Given the description of an element on the screen output the (x, y) to click on. 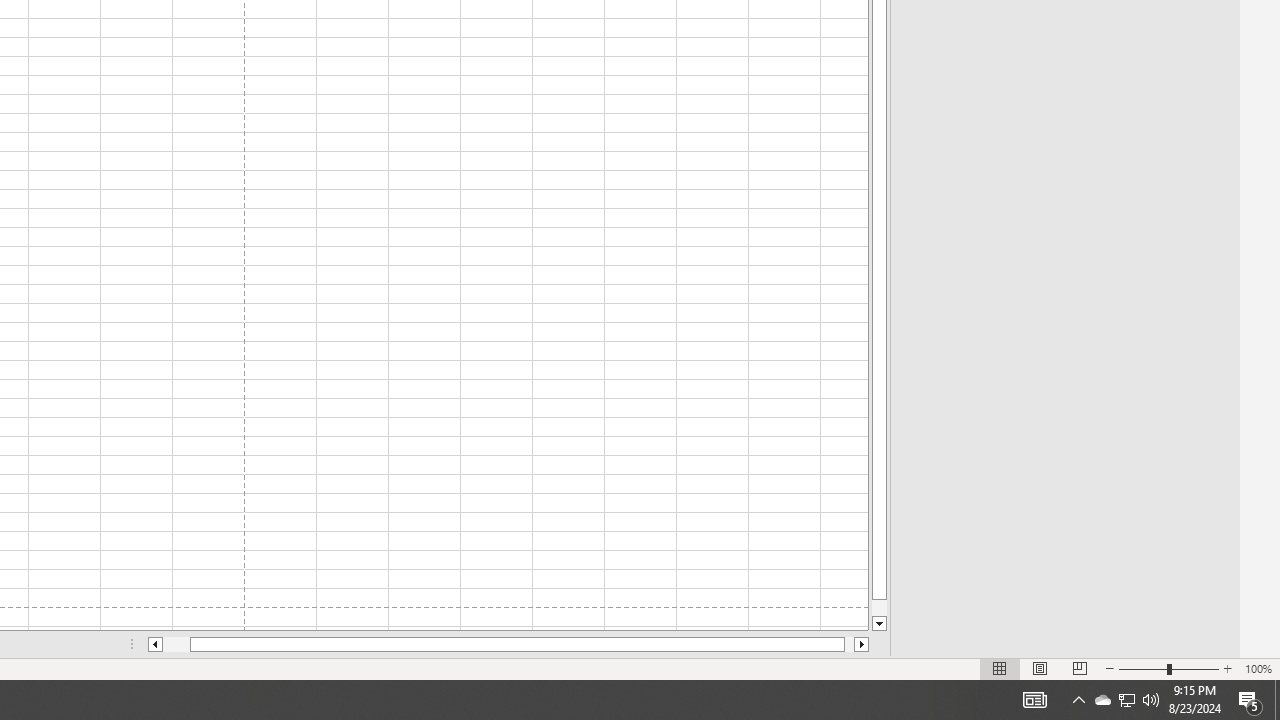
Page left (175, 644)
